Given the description of an element on the screen output the (x, y) to click on. 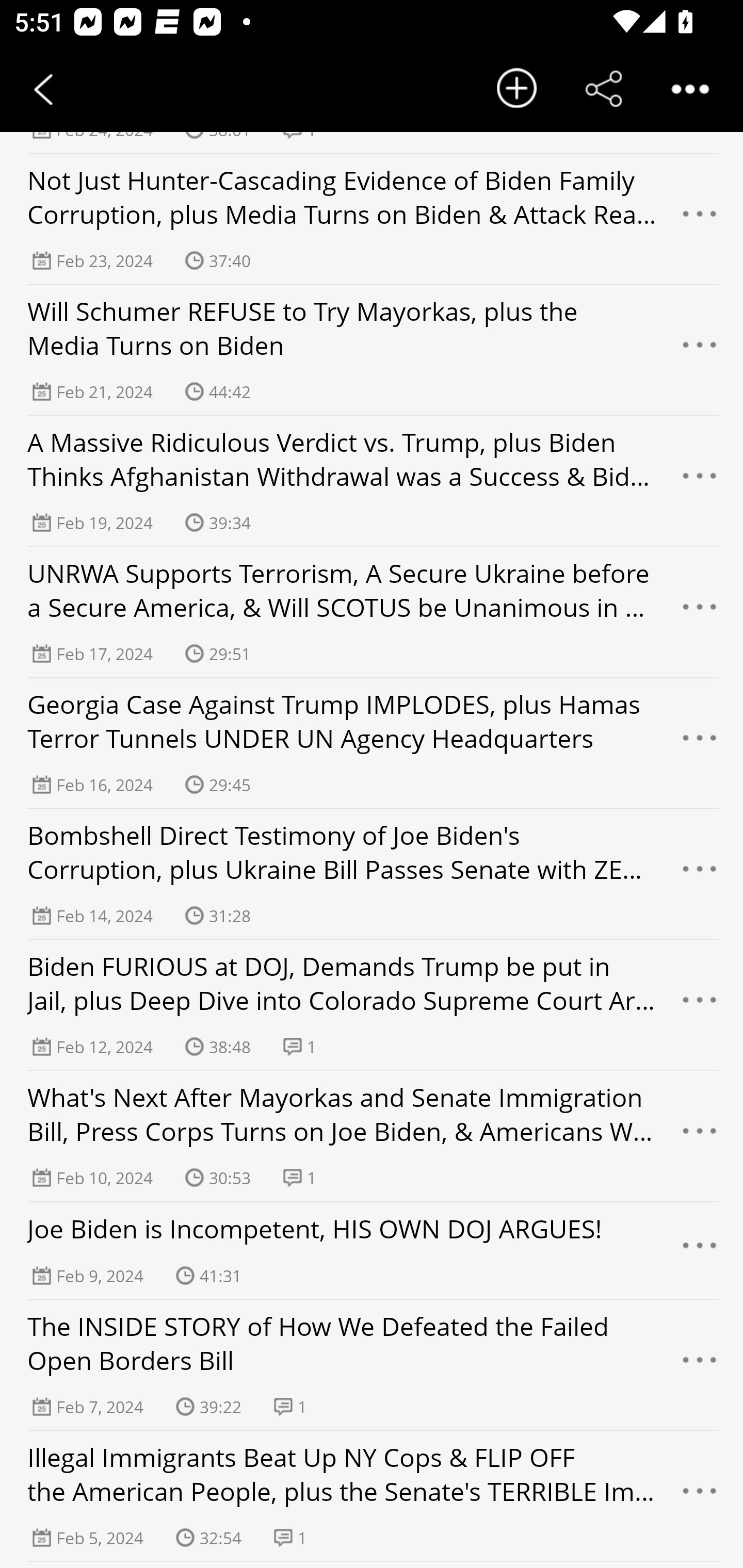
Back (43, 88)
Menu (699, 218)
Menu (699, 350)
Menu (699, 481)
Menu (699, 612)
Menu (699, 743)
Menu (699, 874)
Menu (699, 1004)
Menu (699, 1135)
Menu (699, 1250)
Menu (699, 1364)
Menu (699, 1496)
